Given the description of an element on the screen output the (x, y) to click on. 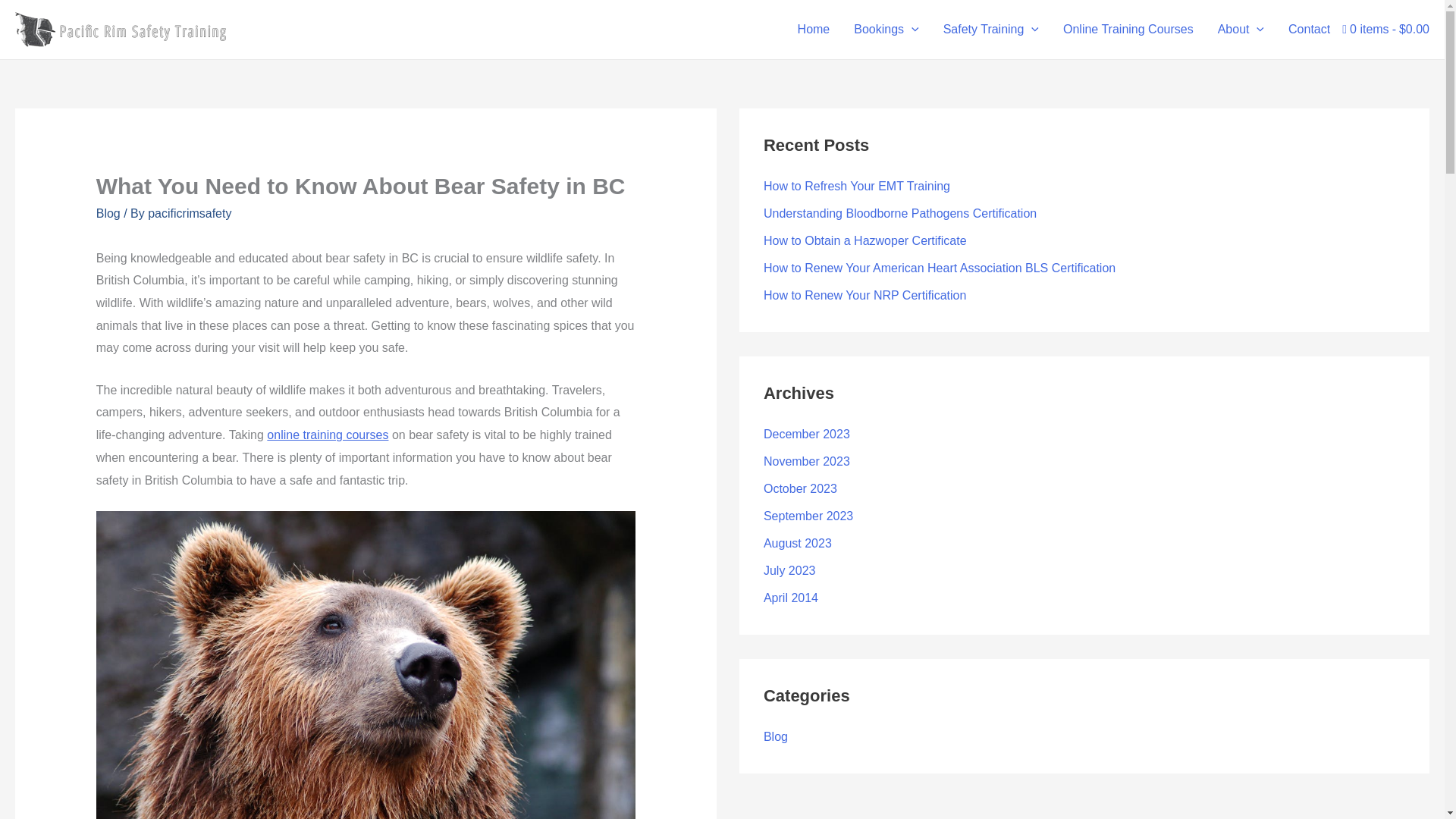
Contact (1309, 29)
View all posts by pacificrimsafety (189, 213)
Home (814, 29)
Bookings (885, 29)
Start shopping (1385, 29)
Safety Training (991, 29)
About (1240, 29)
Online Training Courses (1128, 29)
